Given the description of an element on the screen output the (x, y) to click on. 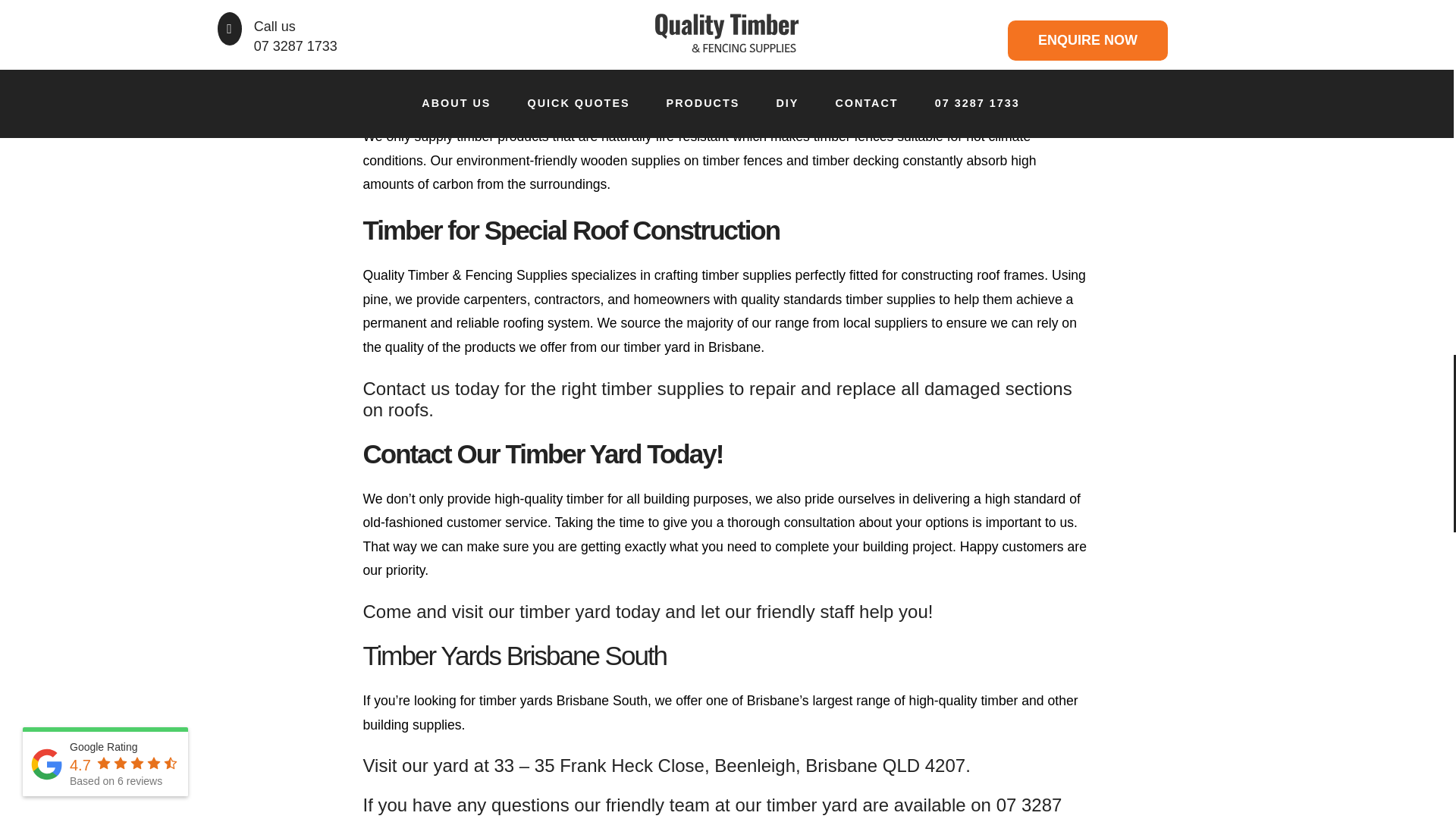
07 3287 1733 (711, 806)
